Given the description of an element on the screen output the (x, y) to click on. 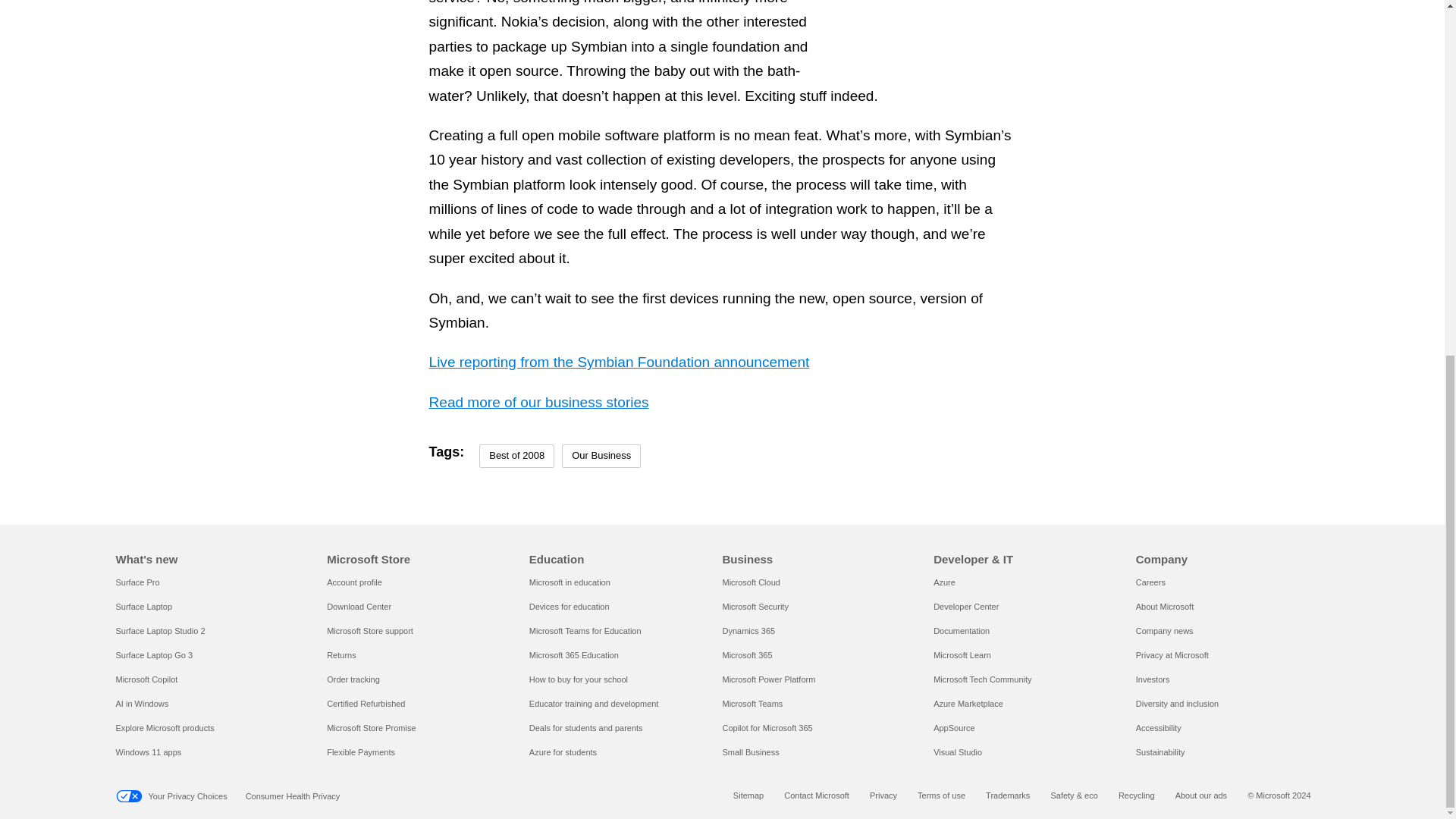
Our Business Tag (601, 455)
Best of 2008 in Our Business - Symbian Foundation (1098, 22)
Best of 2008 Tag (516, 455)
Nokia Business stories (539, 401)
Symbian Foundation stories (619, 361)
